Given the description of an element on the screen output the (x, y) to click on. 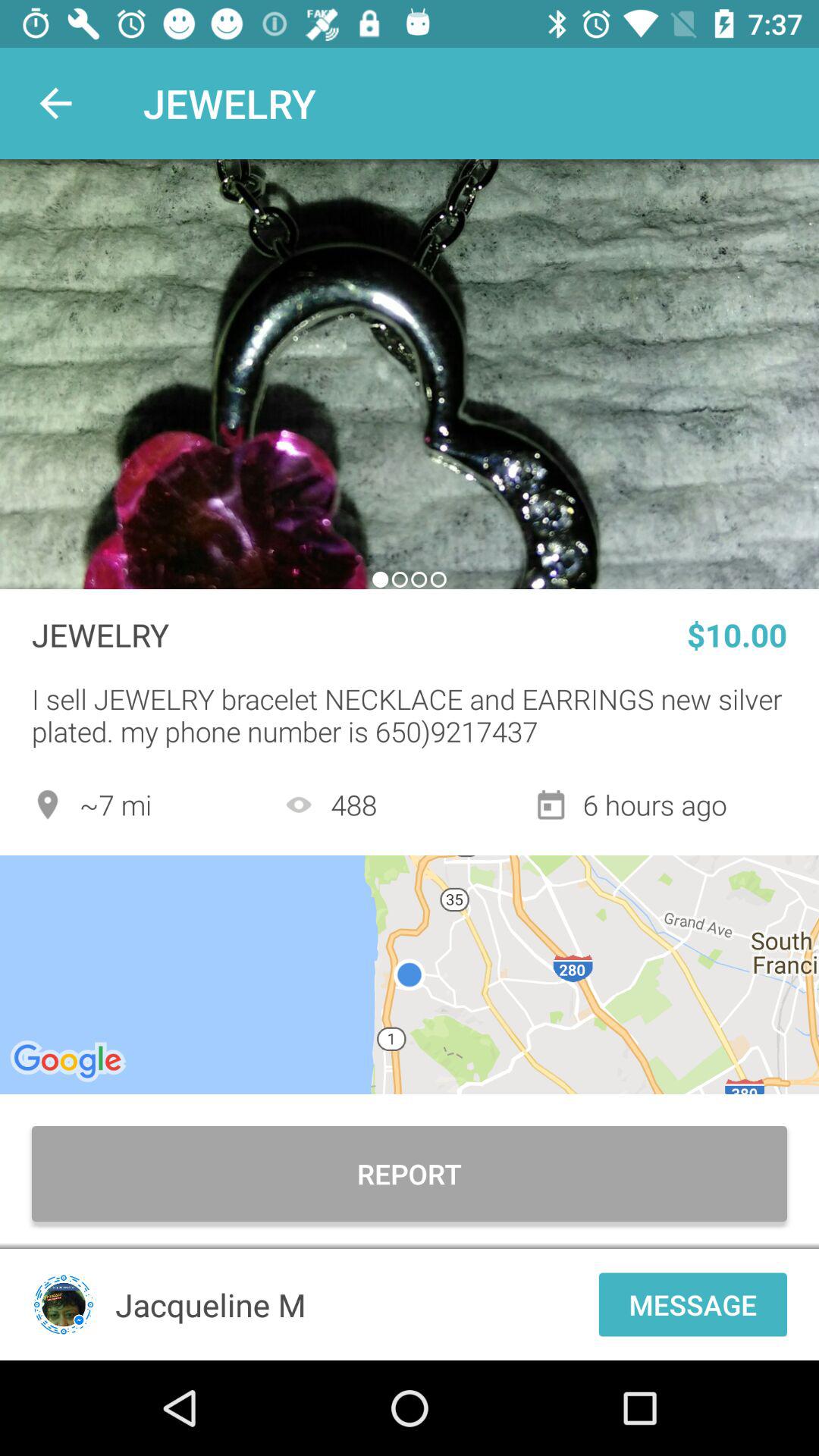
select the pictrae (409, 374)
